Given the description of an element on the screen output the (x, y) to click on. 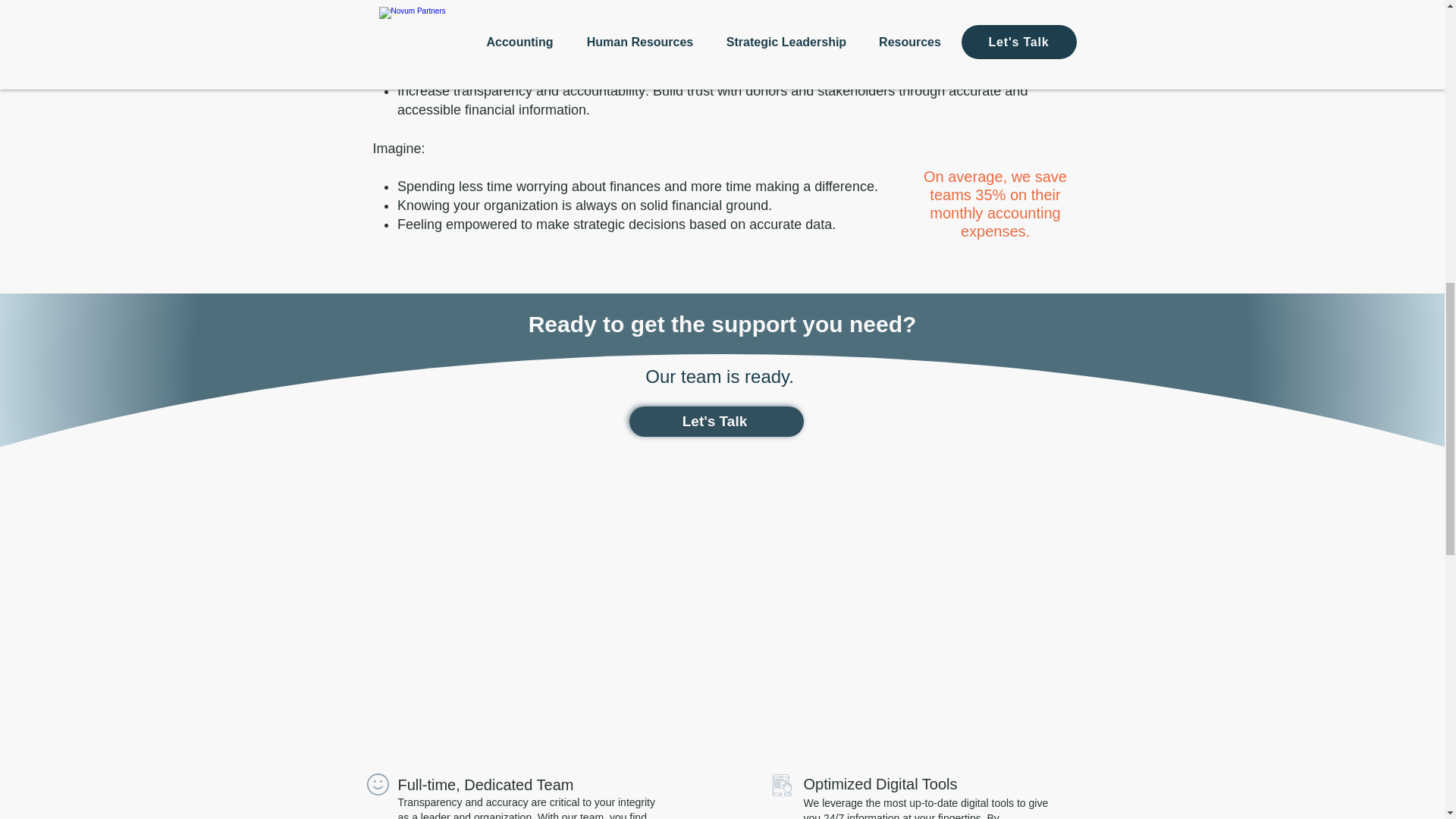
Let's Talk (715, 421)
